Given the description of an element on the screen output the (x, y) to click on. 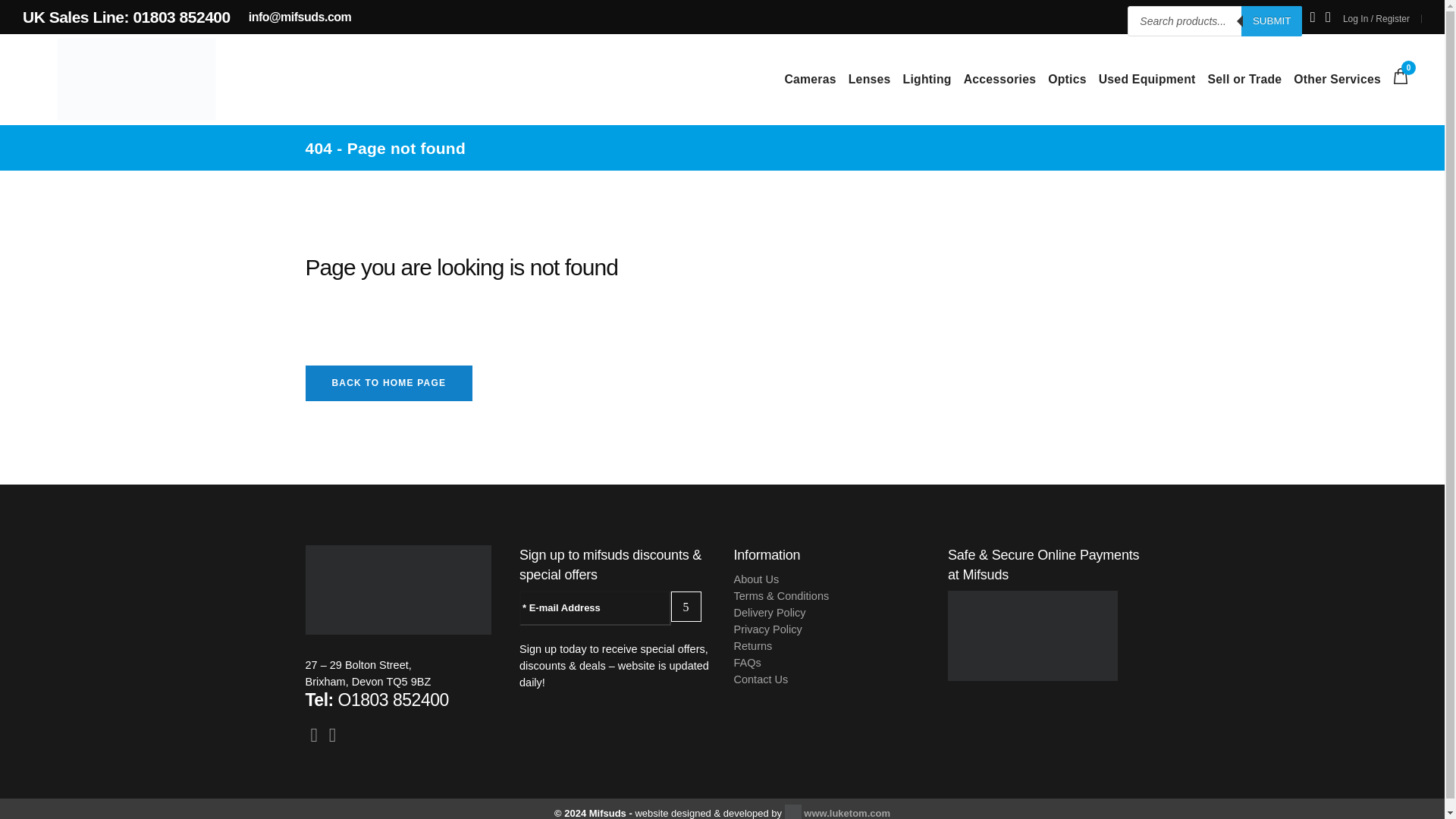
5 (686, 606)
U (1054, 422)
Accessories (1000, 79)
SUBMIT (1271, 20)
